Given the description of an element on the screen output the (x, y) to click on. 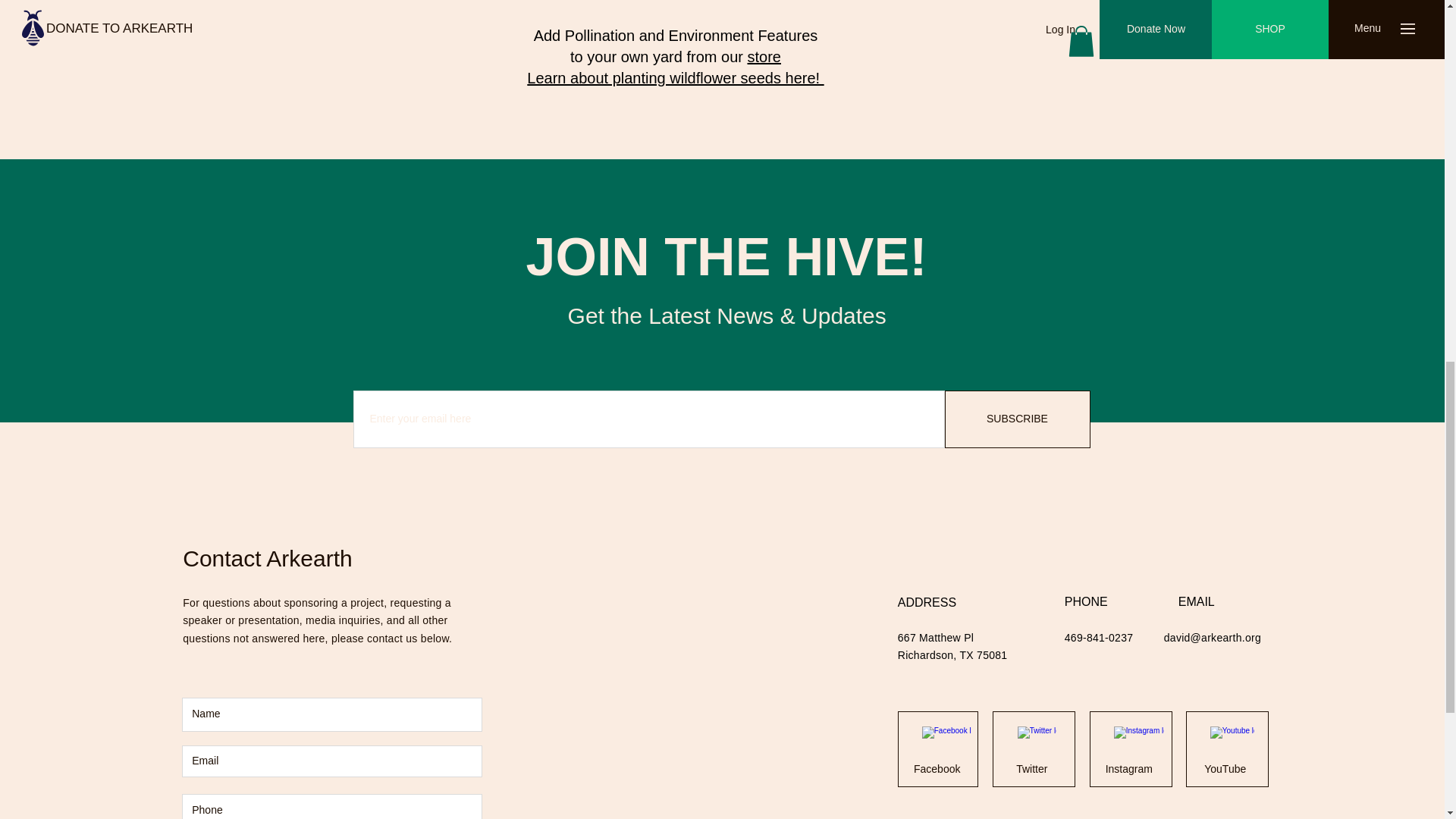
Instagram (1128, 769)
Facebook (936, 769)
Twitter (1031, 769)
YouTube (1224, 769)
SUBSCRIBE (1017, 418)
